Given the description of an element on the screen output the (x, y) to click on. 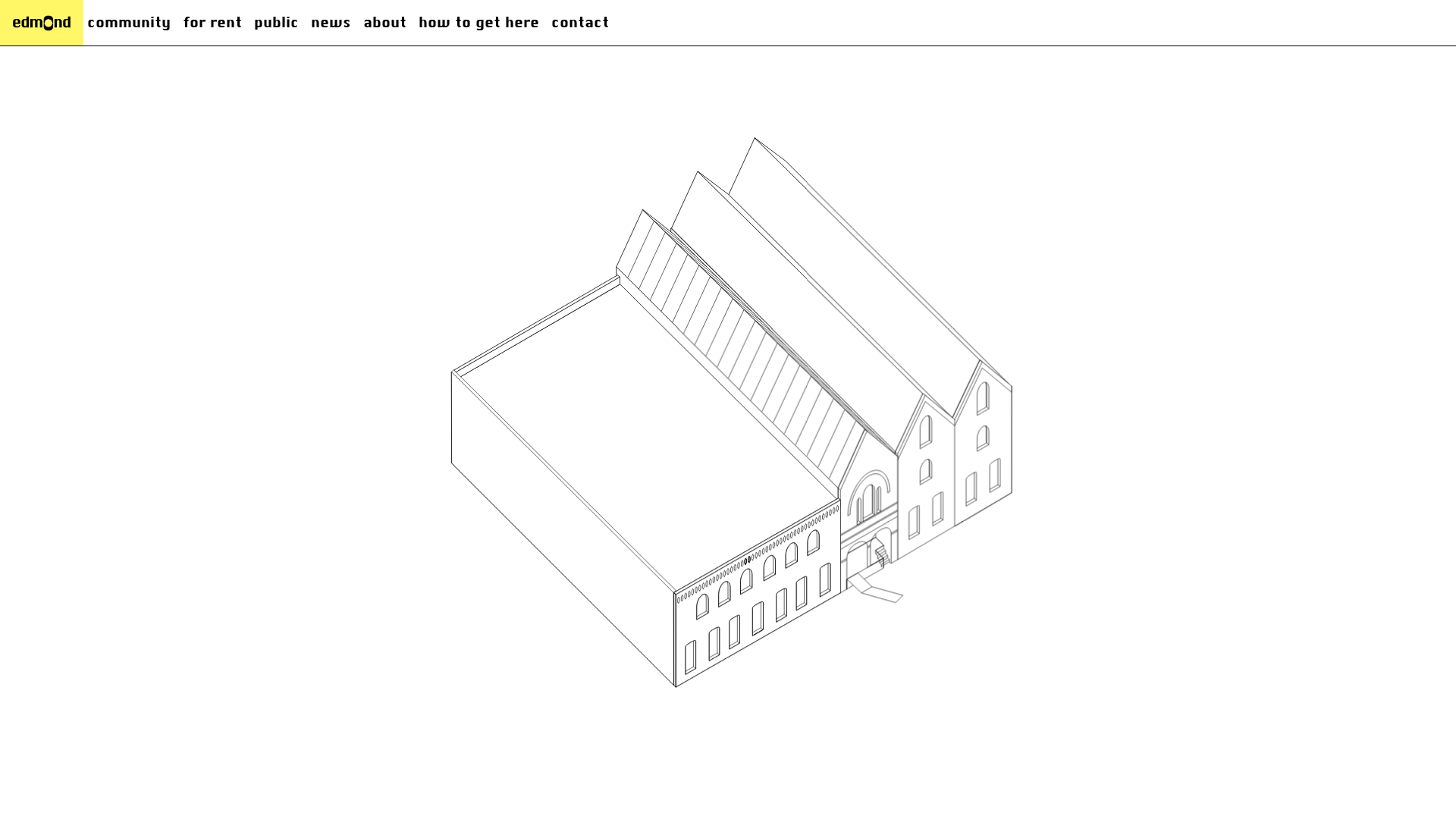
public Element type: text (276, 22)
for rent Element type: text (211, 22)
how to get here Element type: text (478, 22)
contact Element type: text (579, 22)
community Element type: text (128, 22)
about Element type: text (384, 22)
news Element type: text (330, 22)
